Given the description of an element on the screen output the (x, y) to click on. 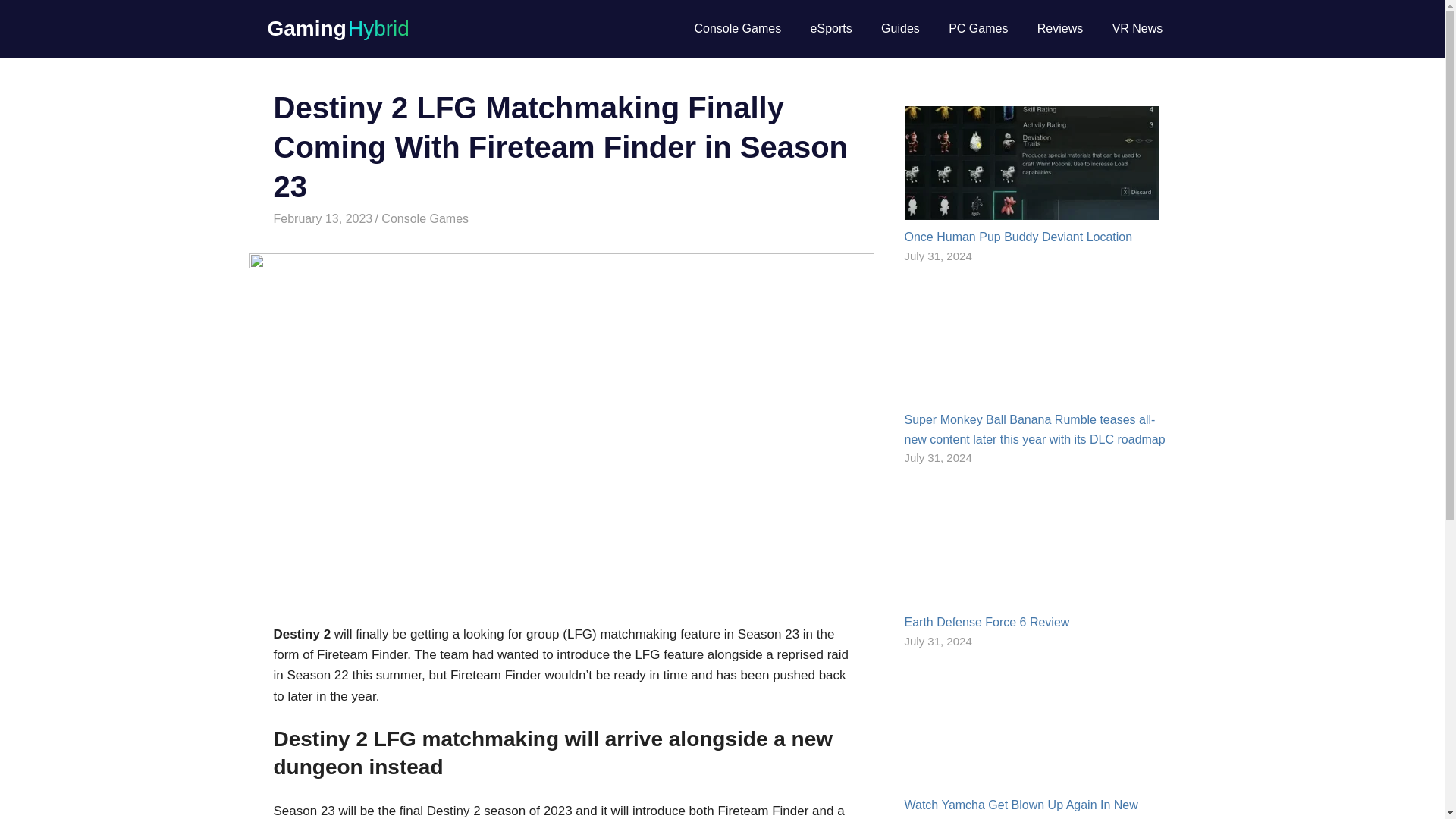
Reviews (1060, 28)
February 13, 2023 (322, 218)
VR News (1136, 28)
Console Games (736, 28)
Once Human Pup Buddy Deviant Location (1018, 236)
Gaming Hybrid (337, 28)
PC Games (978, 28)
Earth Defense Force 6 Review (986, 621)
GamingHybrid (416, 218)
1:51 pm (322, 218)
Guides (900, 28)
View all posts by GamingHybrid (416, 218)
Console Games (424, 218)
eSports (830, 28)
